Given the description of an element on the screen output the (x, y) to click on. 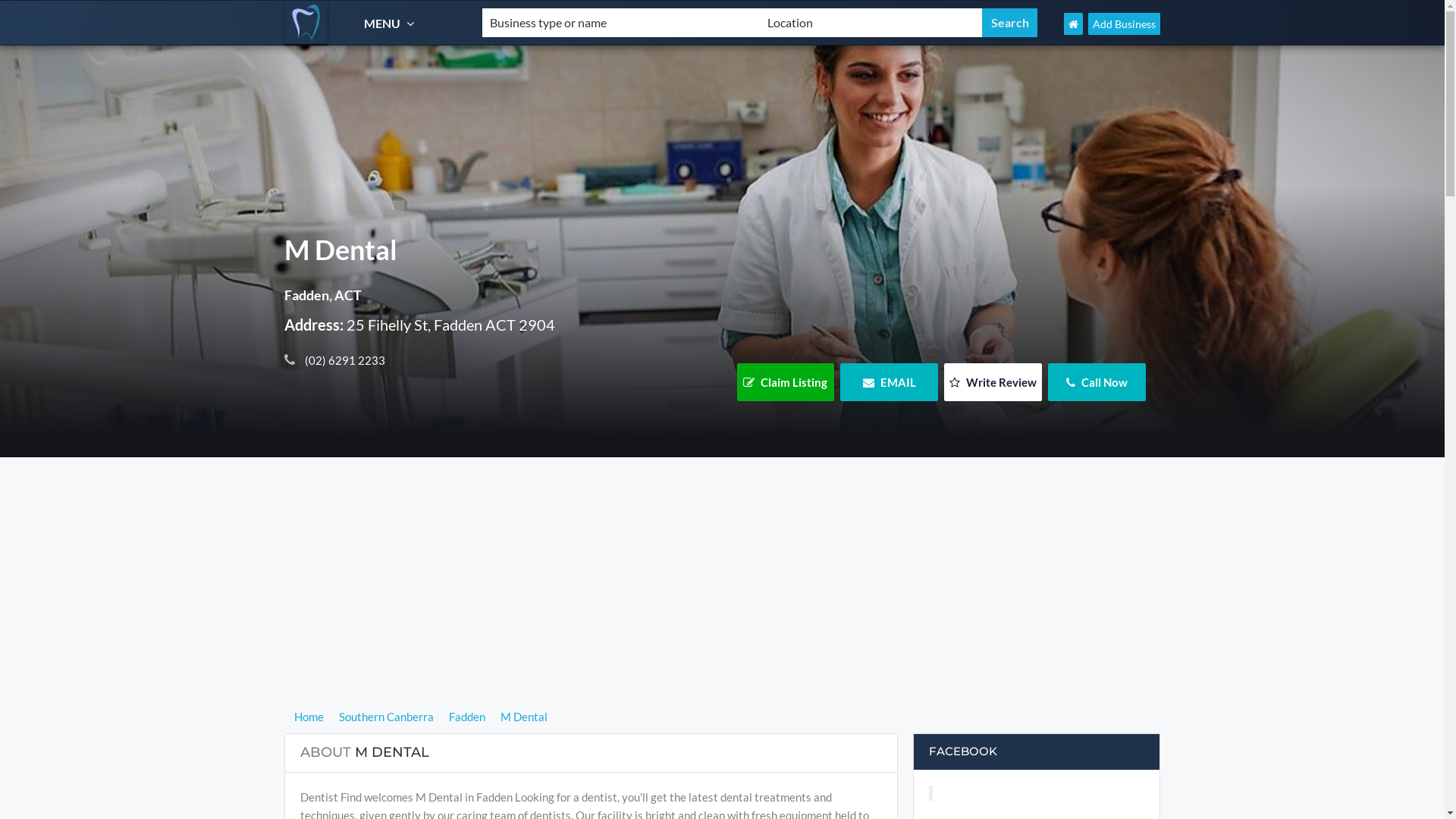
MENU Element type: text (390, 22)
M Dental Element type: text (503, 255)
 Write Review Element type: text (992, 382)
Southern Canberra Element type: text (386, 716)
 (02) 6291 2233 Element type: text (343, 360)
Dentist Find Element type: hover (305, 21)
Home Element type: text (310, 716)
Add Business Element type: text (1124, 23)
Fadden Element type: text (466, 716)
 Claim Listing Element type: text (785, 382)
M Dental Element type: text (522, 716)
 Call Now Element type: text (1096, 382)
Advertisement Element type: hover (722, 601)
 EMAIL Element type: text (889, 382)
Dentist Find Home Page Element type: hover (1072, 23)
Search Element type: text (1009, 22)
